Given the description of an element on the screen output the (x, y) to click on. 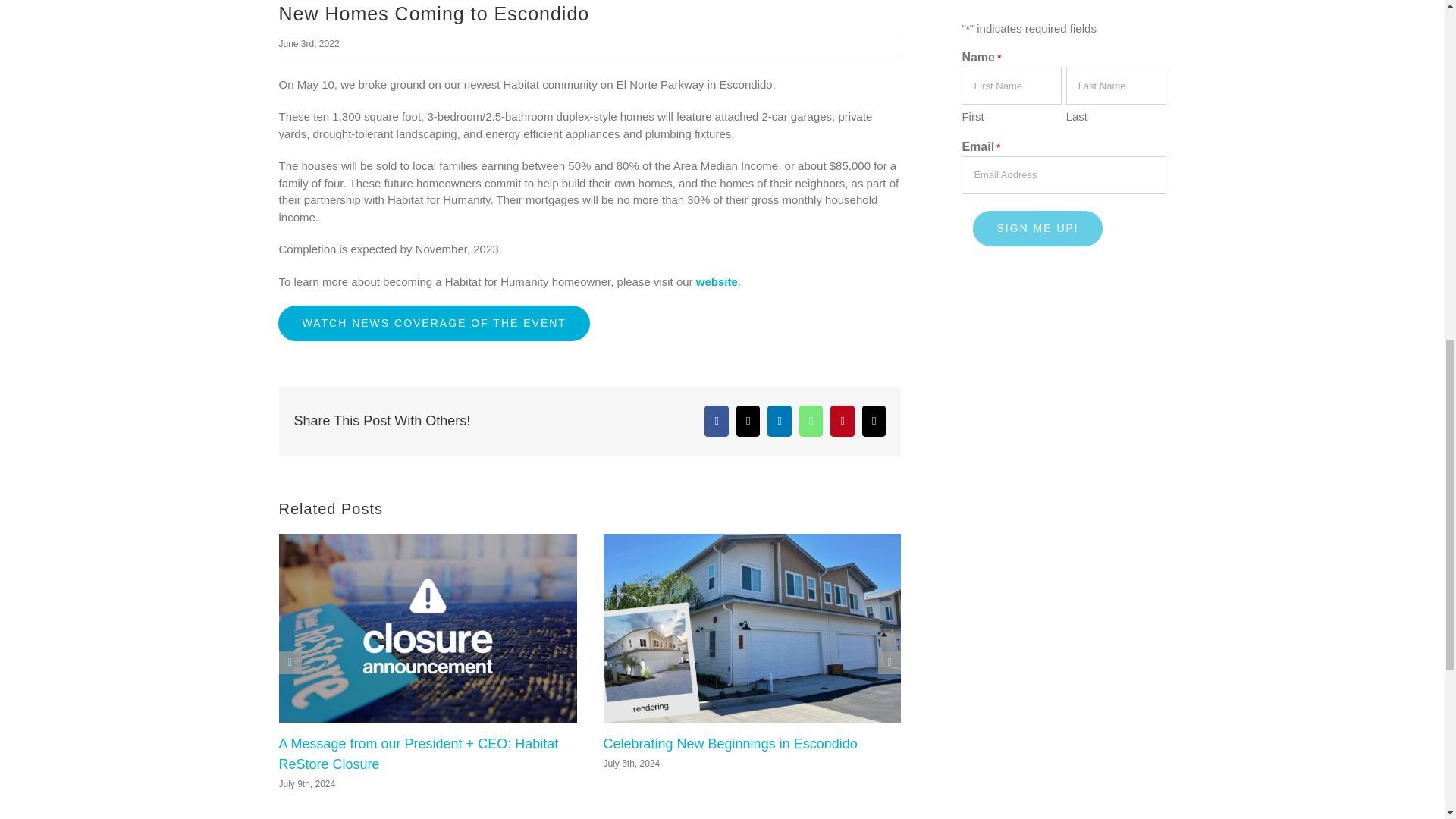
Celebrating New Beginnings in Escondido (730, 743)
sign me up! (1037, 228)
